Given the description of an element on the screen output the (x, y) to click on. 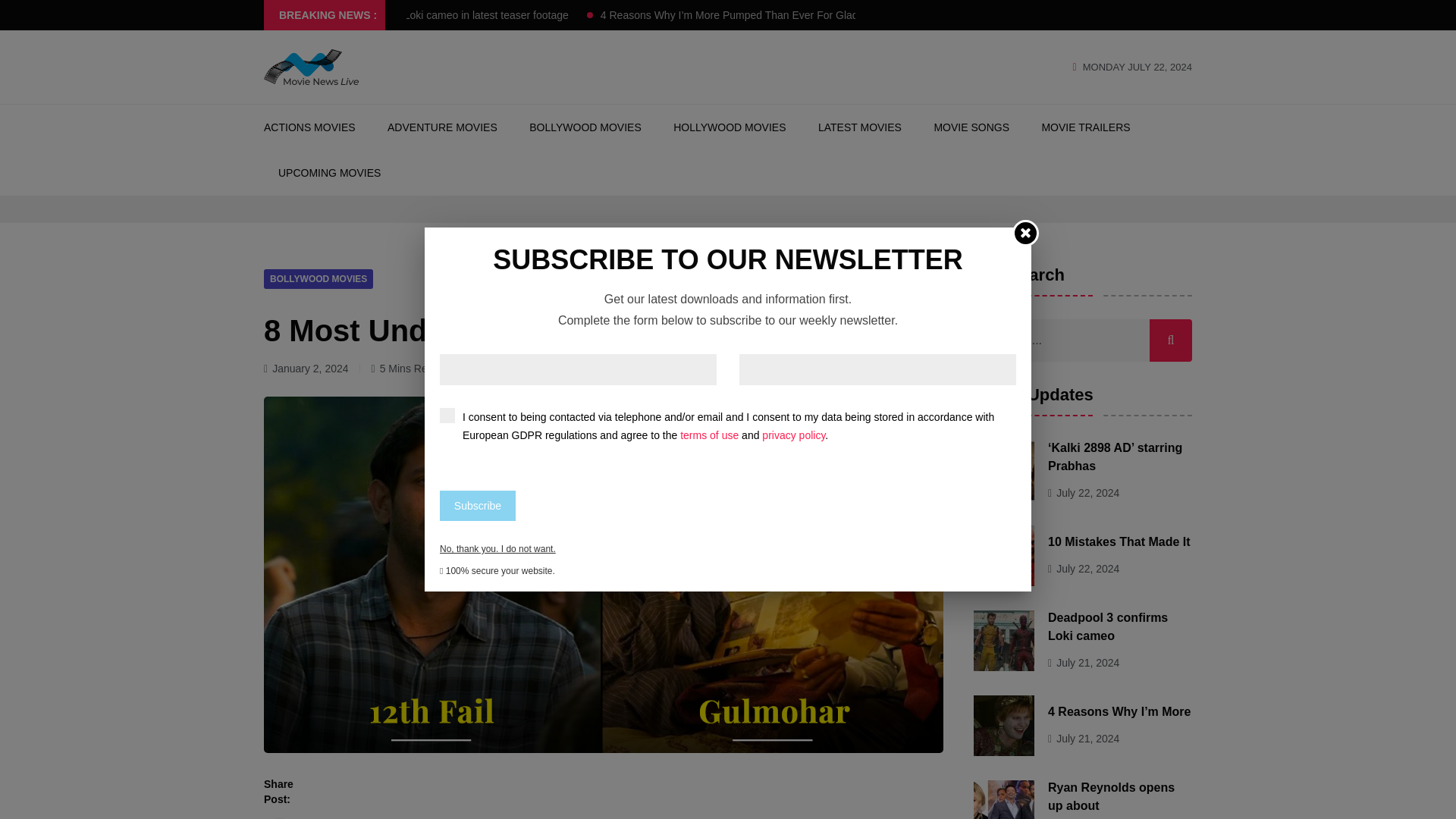
ACTIONS MOVIES (309, 126)
UPCOMING MOVIES (329, 172)
January 2, 2024 (311, 368)
LATEST MOVIES (859, 126)
BOLLYWOOD MOVIES (585, 126)
HOLLYWOOD MOVIES (729, 126)
MOVIE SONGS (971, 126)
MOVIE TRAILERS (1085, 126)
ADVENTURE MOVIES (442, 126)
BOLLYWOOD MOVIES (317, 278)
Deadpool 3 confirms Loki cameo in latest teaser footage (428, 15)
